Given the description of an element on the screen output the (x, y) to click on. 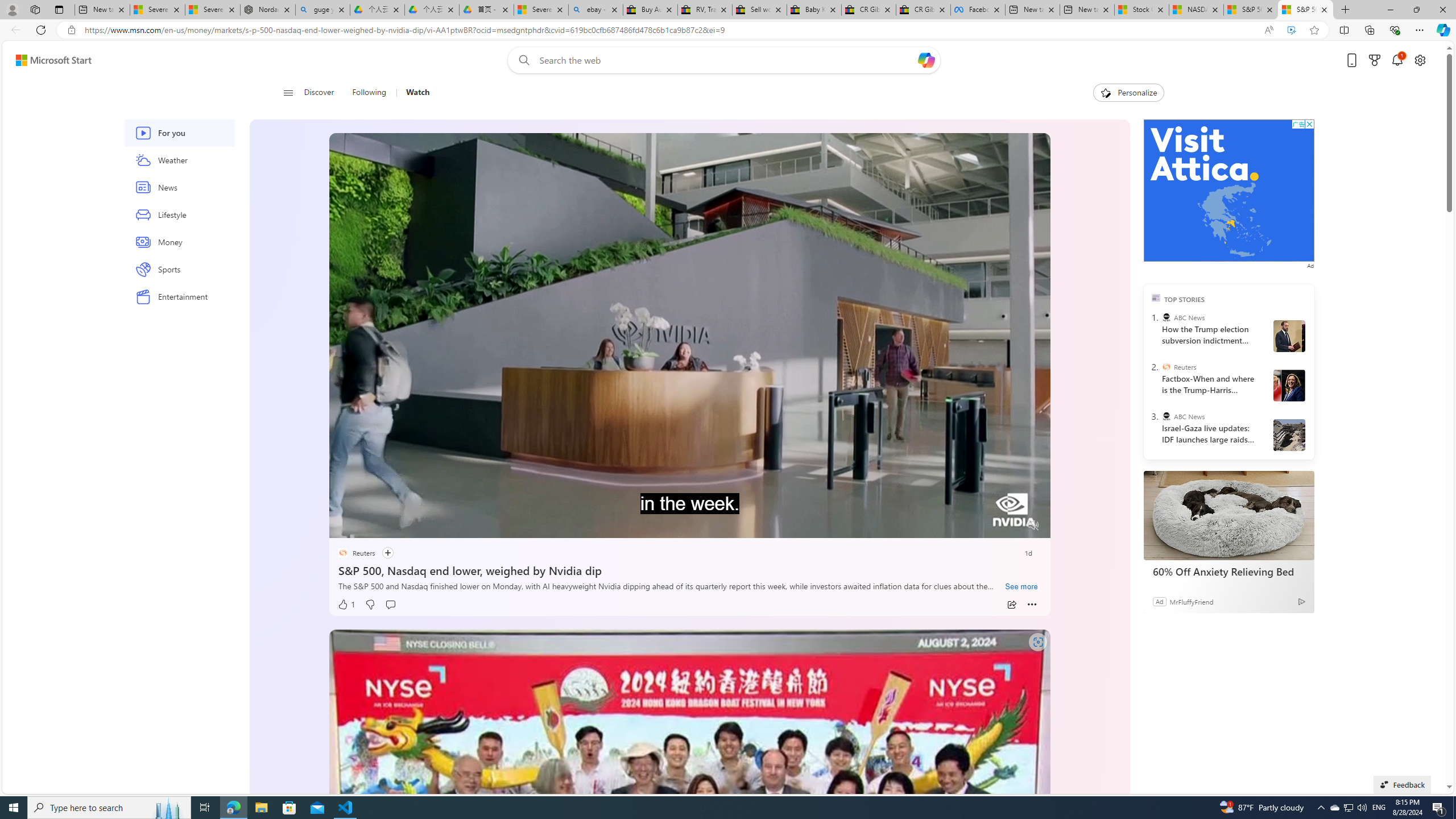
Skip to footer (46, 59)
Reuters (1165, 366)
Personalize (1128, 92)
Pause (346, 525)
1 Like (345, 604)
Quality Settings (964, 525)
S&P 500, Nasdaq end lower, weighed by Nvidia dip (689, 568)
Baby Keepsakes & Announcements for sale | eBay (813, 9)
